Given the description of an element on the screen output the (x, y) to click on. 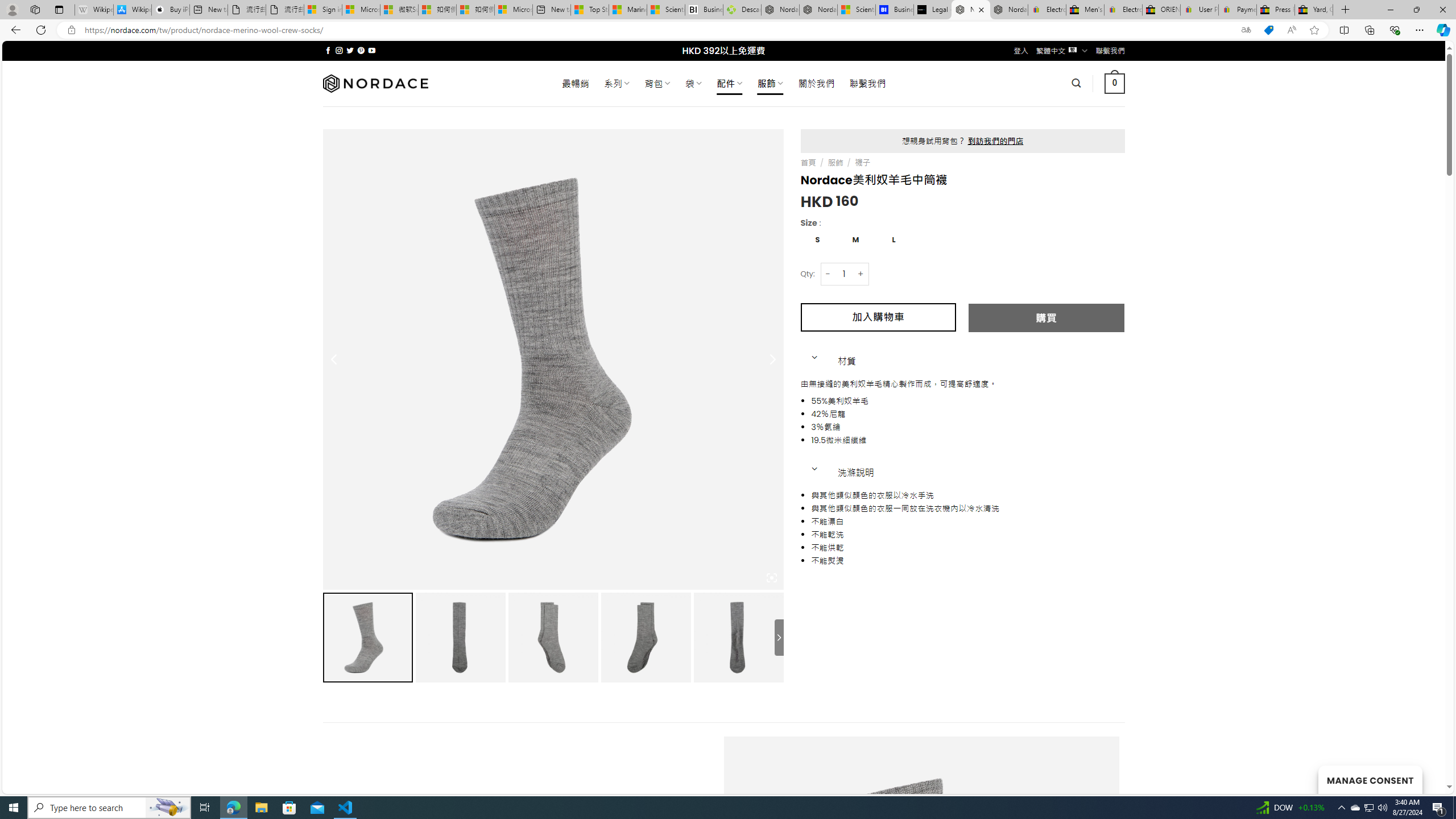
MANAGE CONSENT (1369, 779)
